Given the description of an element on the screen output the (x, y) to click on. 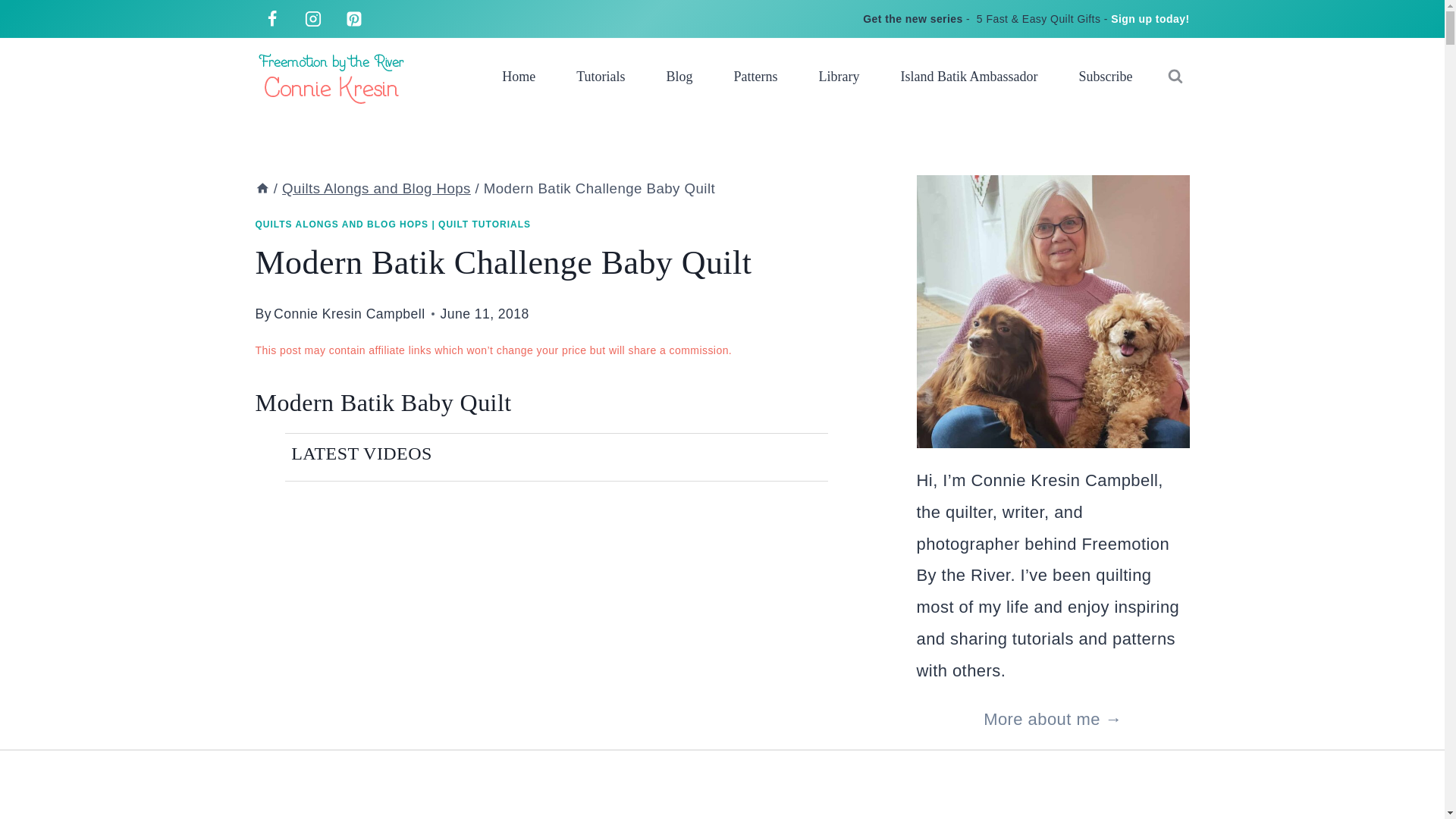
Tutorials (600, 76)
QUILT TUTORIALS (484, 224)
Library (838, 76)
Blog (679, 76)
Home (518, 76)
Quilts Alongs and Blog Hops (376, 188)
Home (261, 188)
Connie Kresin Campbell (349, 313)
QUILTS ALONGS AND BLOG HOPS (341, 224)
Subscribe (1105, 76)
